Given the description of an element on the screen output the (x, y) to click on. 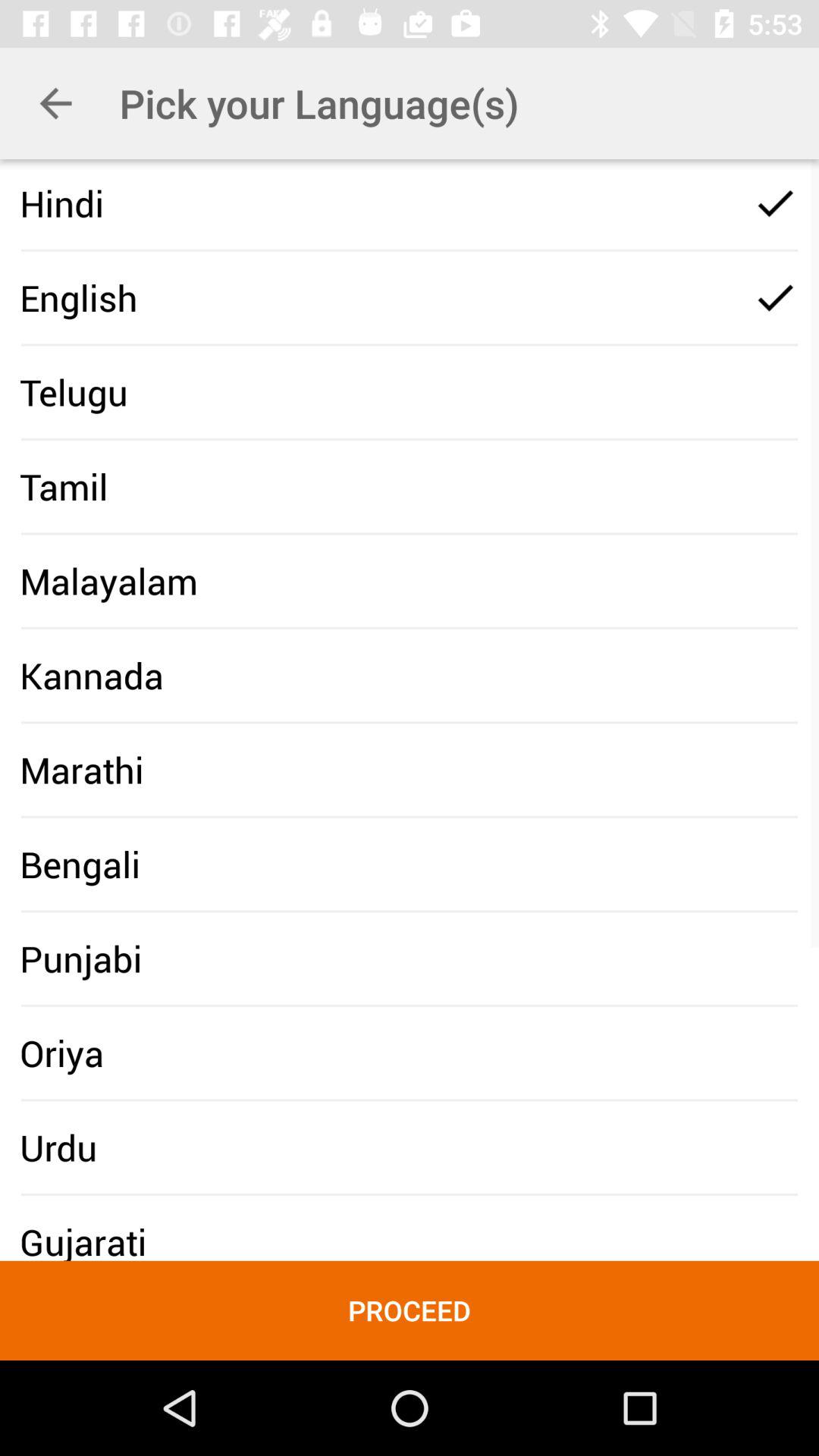
flip until the kannada (91, 675)
